Given the description of an element on the screen output the (x, y) to click on. 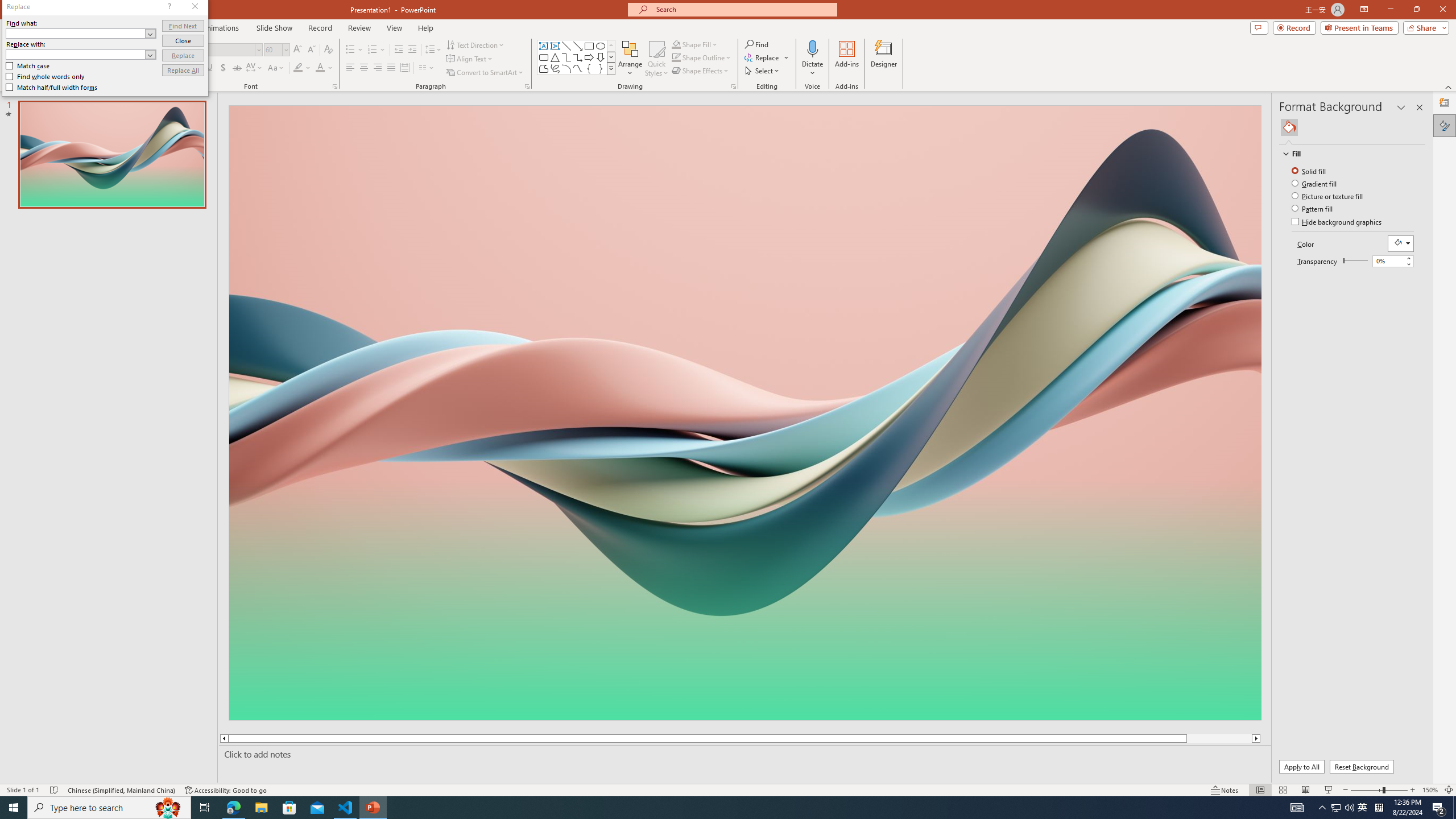
Find Next (183, 25)
Wavy 3D art (744, 412)
